Given the description of an element on the screen output the (x, y) to click on. 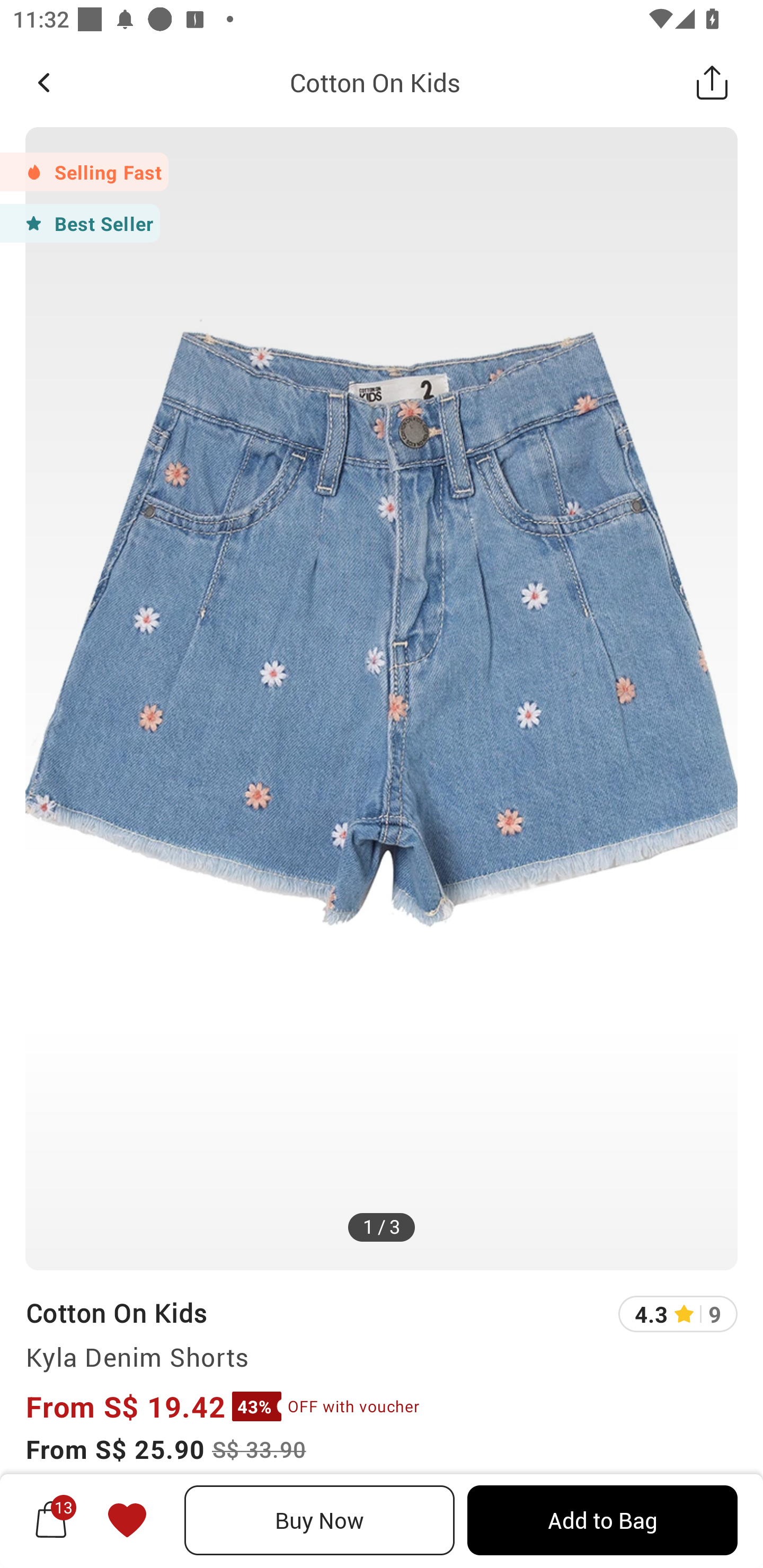
Cotton On Kids (375, 82)
Share this Product (711, 82)
Cotton On Kids (116, 1312)
4.3 9 (677, 1313)
Buy Now (319, 1519)
Add to Bag (601, 1519)
13 (50, 1520)
